Given the description of an element on the screen output the (x, y) to click on. 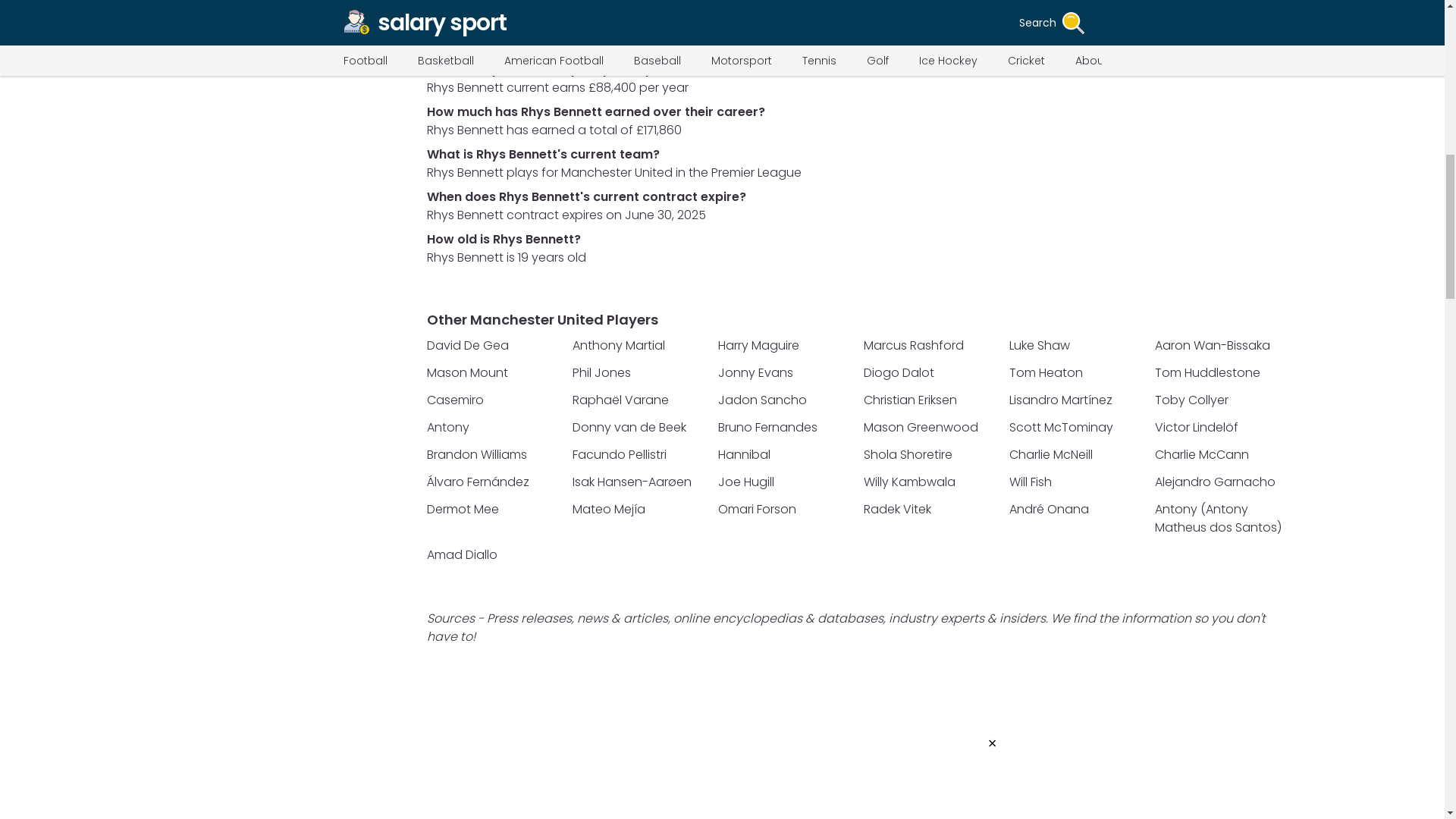
Christian Eriksen (930, 400)
Aaron Wan-Bissaka (1222, 345)
Jadon Sancho (785, 400)
Donny van de Beek (639, 427)
Marcus Rashford (930, 345)
Tom Huddlestone (1222, 372)
Mason Greenwood (930, 427)
David De Gea (494, 345)
Toby Collyer (1222, 400)
Scott McTominay (1076, 427)
Phil Jones (639, 372)
Luke Shaw (1076, 345)
Mason Mount (494, 372)
Harry Maguire (785, 345)
Casemiro (494, 400)
